Given the description of an element on the screen output the (x, y) to click on. 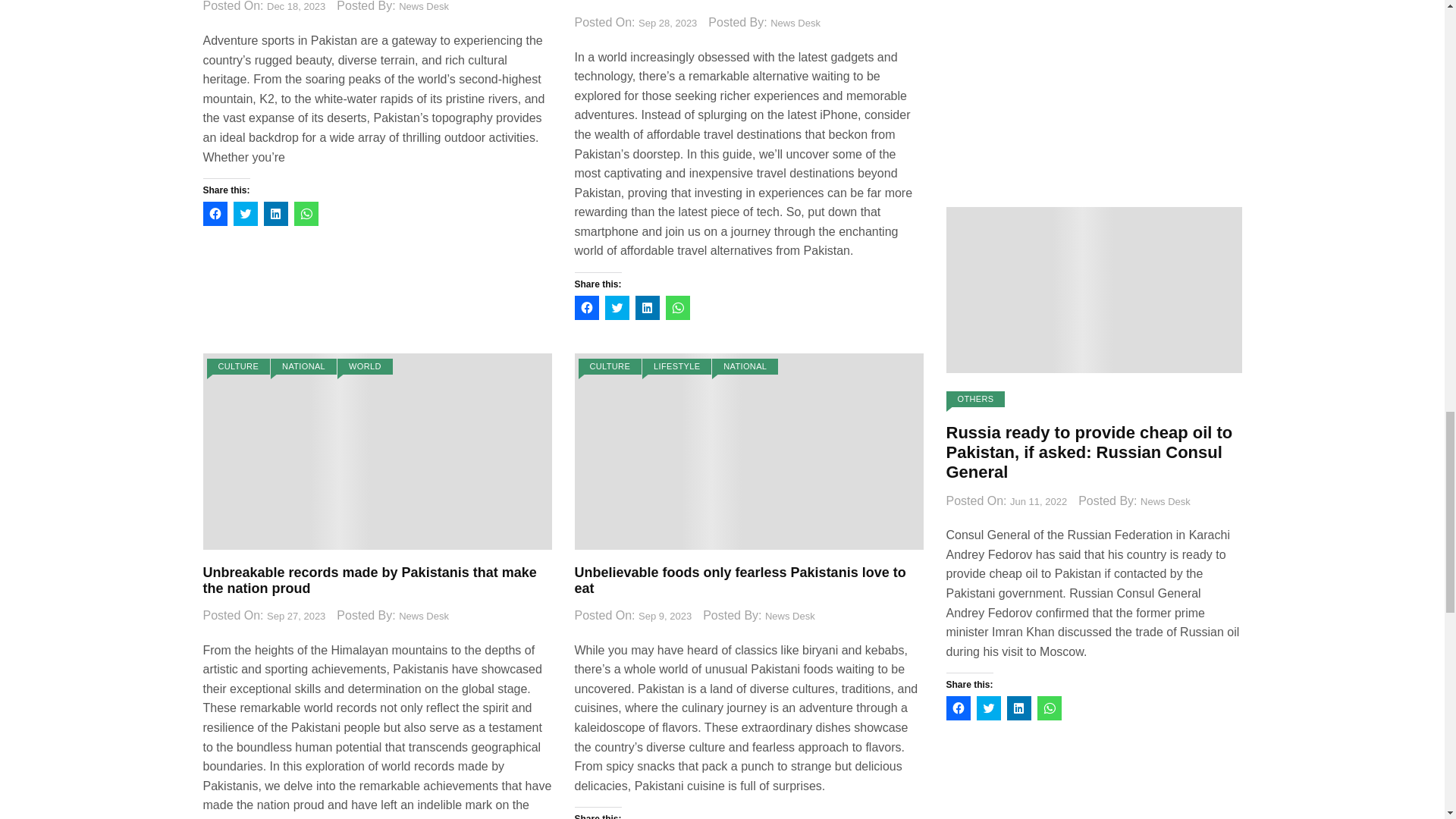
Click to share on Facebook (215, 213)
Click to share on Twitter (244, 213)
Click to share on WhatsApp (306, 213)
Click to share on LinkedIn (275, 213)
